Given the description of an element on the screen output the (x, y) to click on. 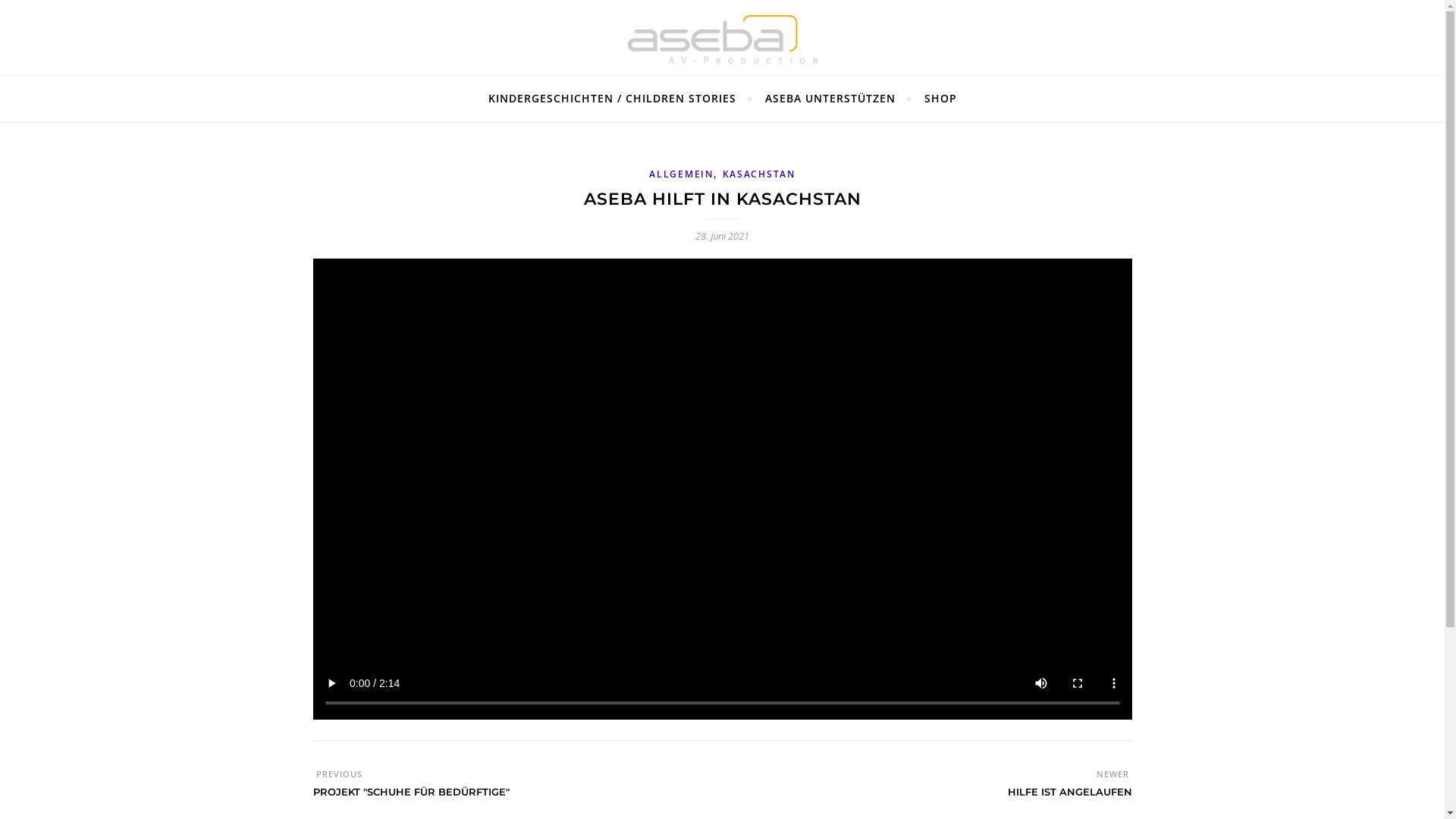
SHOP Element type: text (934, 98)
KINDERGESCHICHTEN / CHILDREN STORIES Element type: text (618, 98)
ALLGEMEIN Element type: text (680, 173)
HILFE IST ANGELAUFEN Element type: text (1069, 799)
KASACHSTAN Element type: text (758, 173)
Aseba Element type: hover (722, 39)
